Given the description of an element on the screen output the (x, y) to click on. 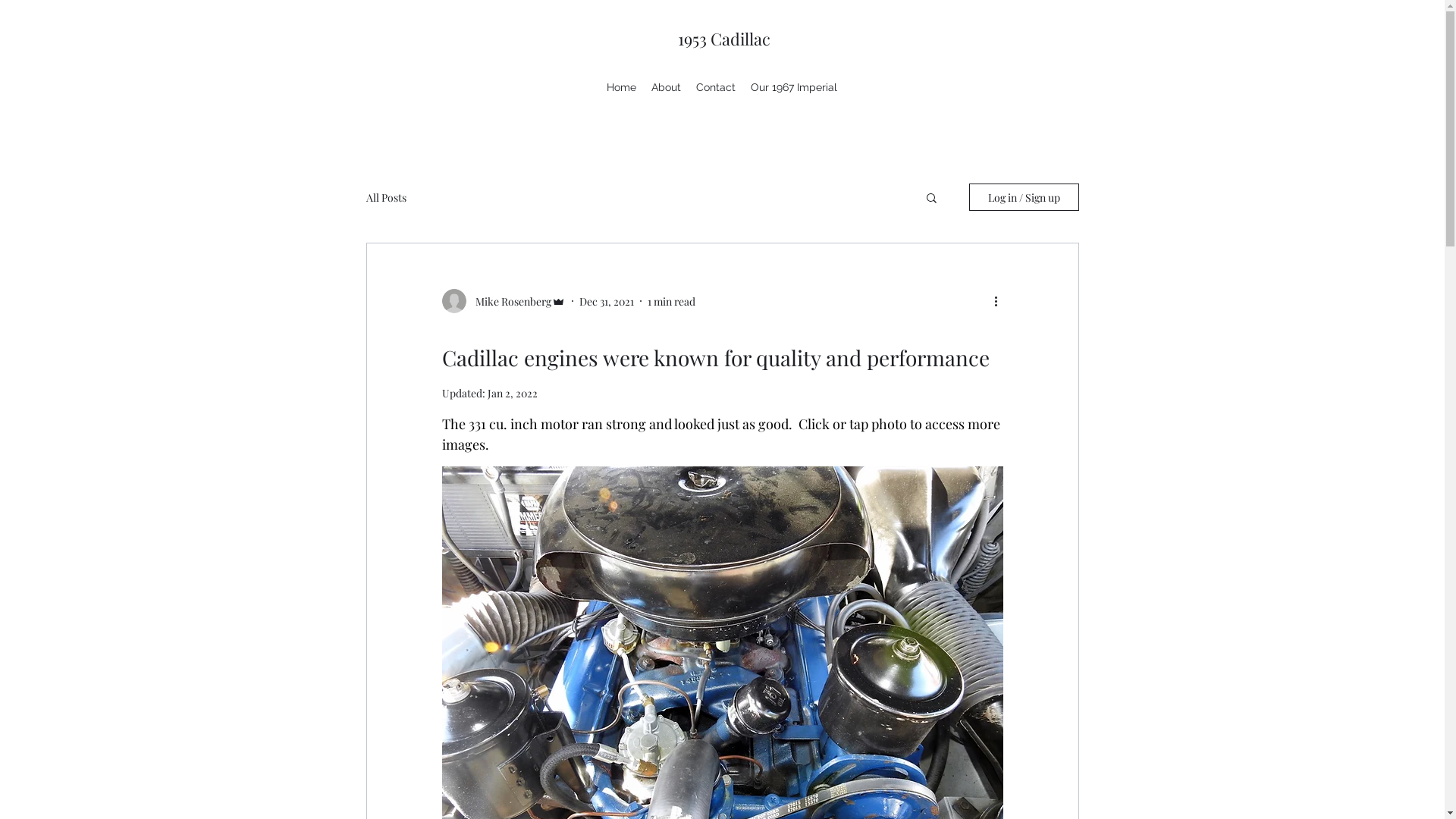
Contact Element type: text (715, 86)
1953 Cadillac Element type: text (723, 38)
All Posts Element type: text (385, 196)
Log in / Sign up Element type: text (1024, 196)
Home Element type: text (621, 86)
About Element type: text (665, 86)
Our 1967 Imperial Element type: text (793, 86)
